Given the description of an element on the screen output the (x, y) to click on. 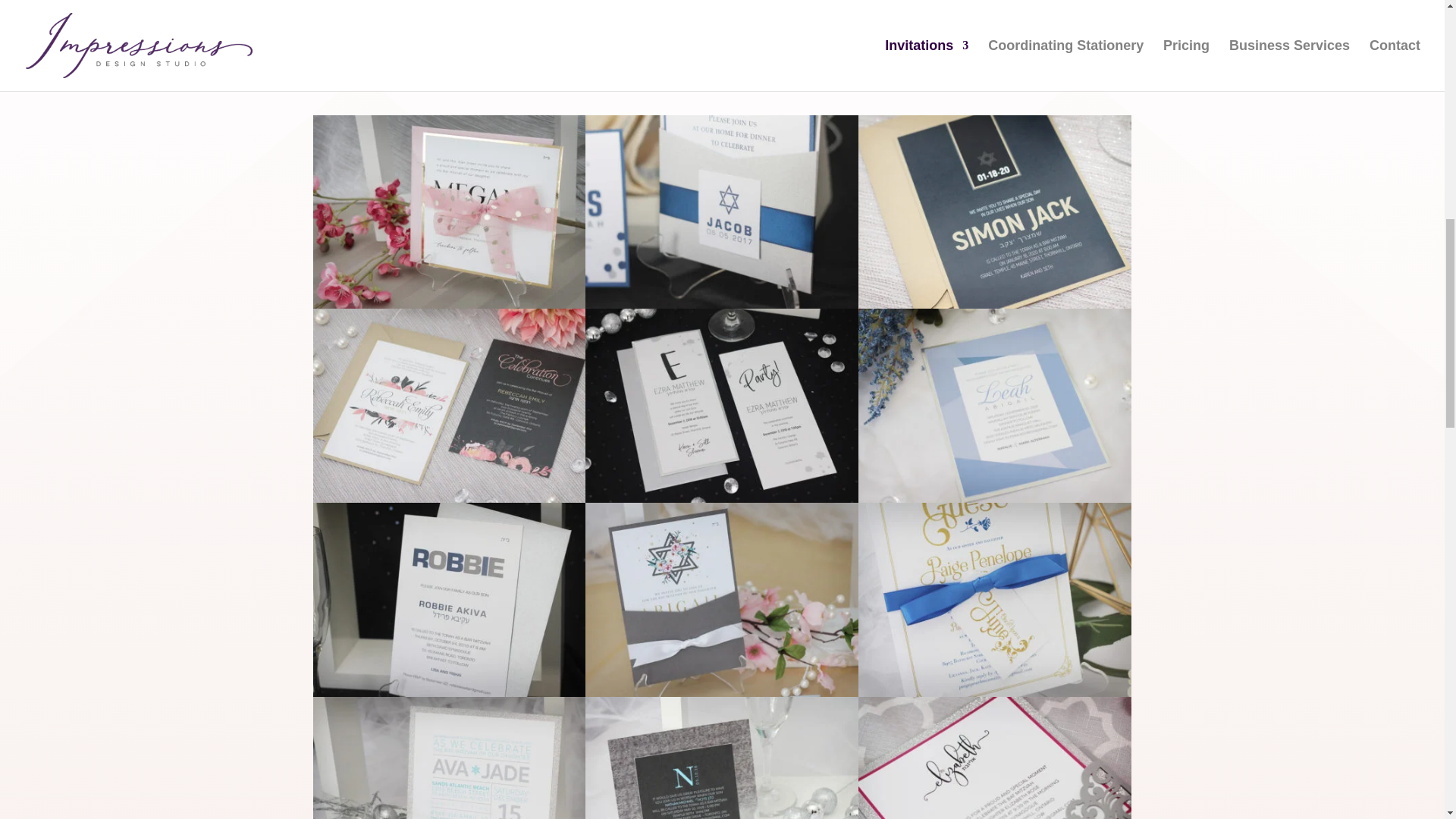
Pocket Bar Mitzvah Invitation (722, 304)
FairyTale Bat Mitzvah Invitation (995, 693)
Sophisticated Bar Mitzvah Invitation (995, 304)
WORDING INSPIRATION (427, 57)
Pink and Gold Bat Mitzvah Invitation (449, 499)
Paint Splatter Bar Mitzvah Invitation (722, 499)
Modern Simple Bar Mitzvah Invitation (449, 693)
PRICING (366, 15)
Contemporary Bat Mitzvah Invitations with Gold Dot Ribbon (449, 304)
Sophisticated Bat Mitzvah Invitation (995, 499)
